Given the description of an element on the screen output the (x, y) to click on. 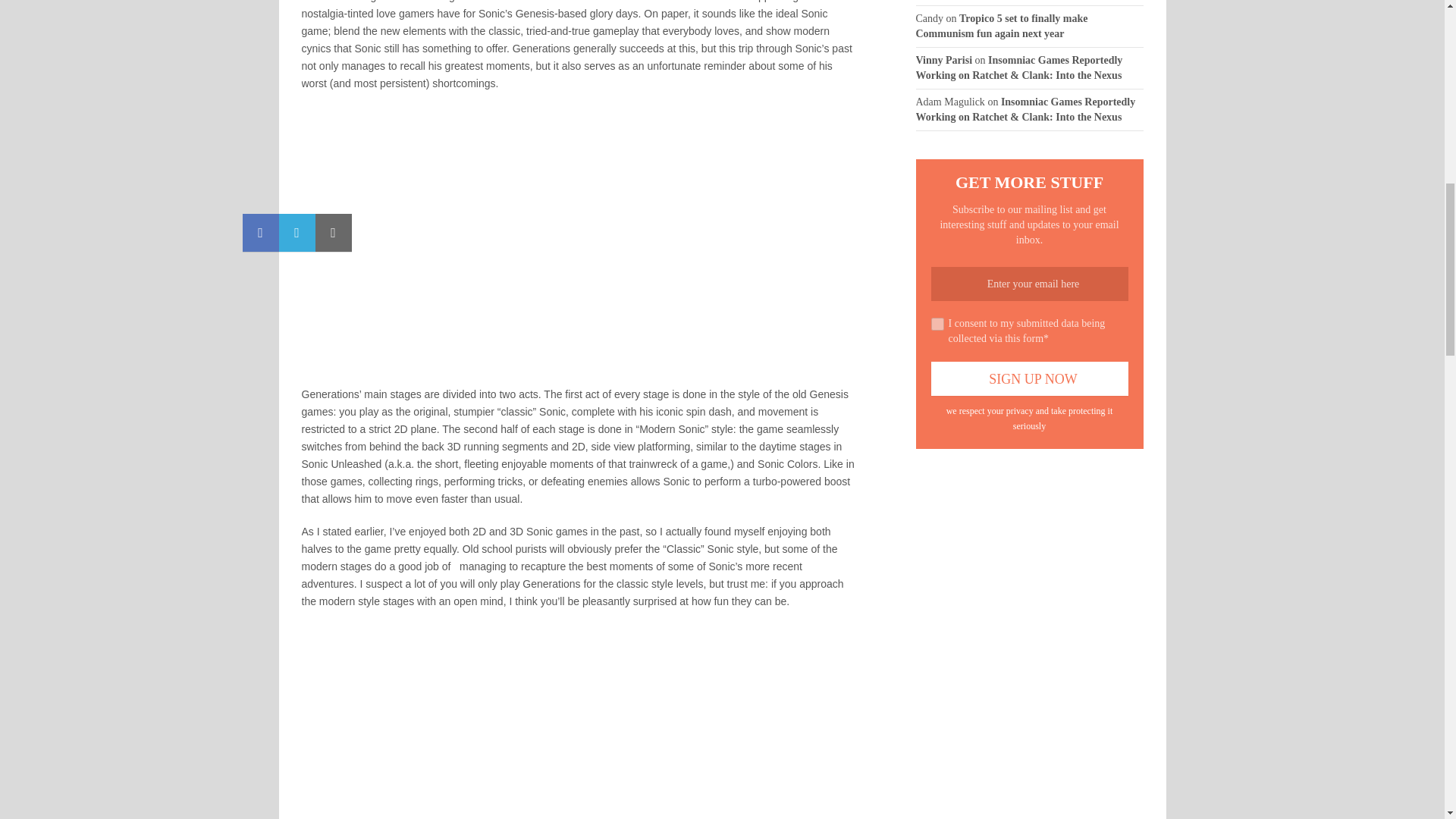
on (937, 323)
Sign Up Now (1029, 378)
